Given the description of an element on the screen output the (x, y) to click on. 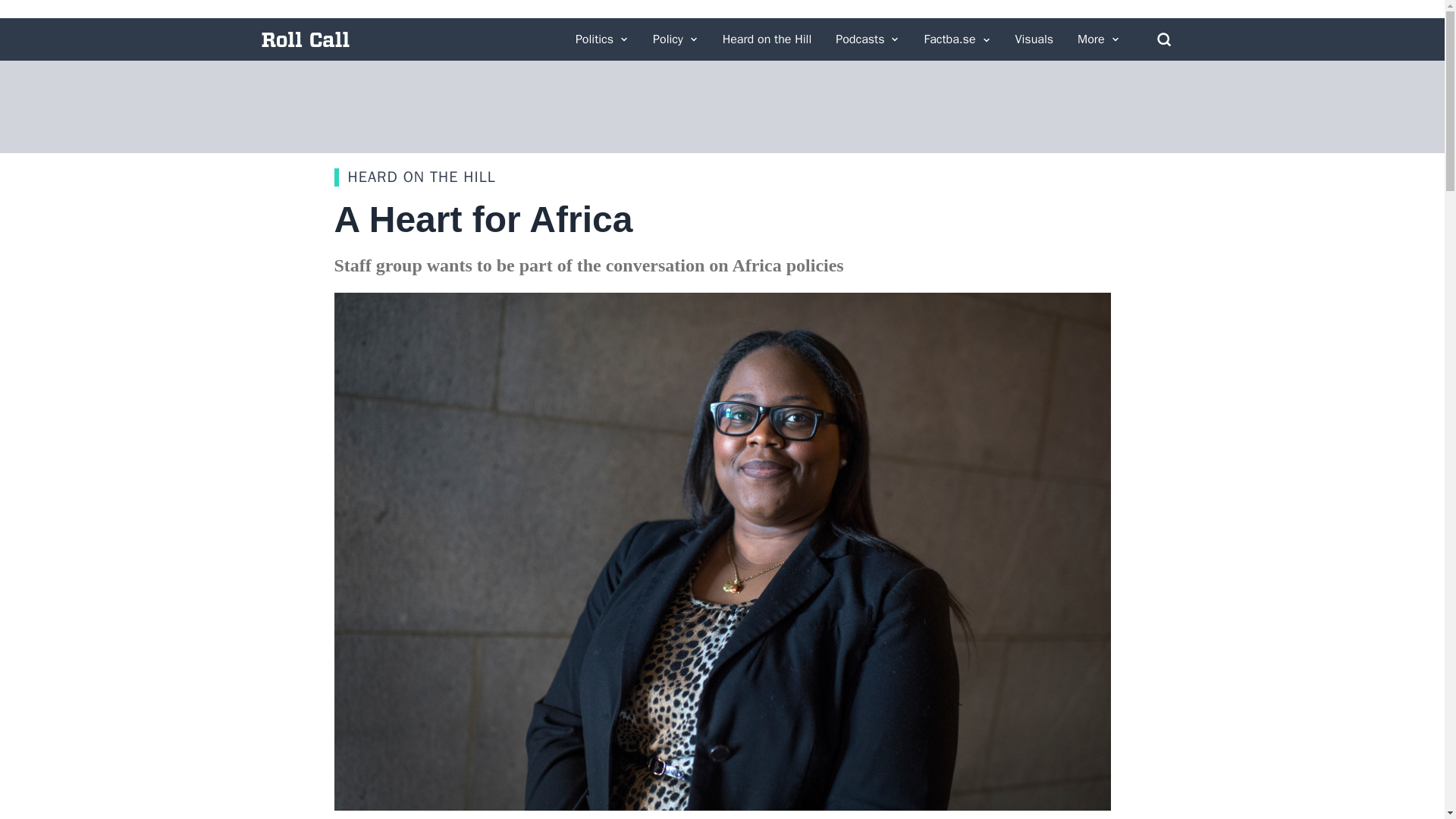
3rd party ad content (721, 106)
